Given the description of an element on the screen output the (x, y) to click on. 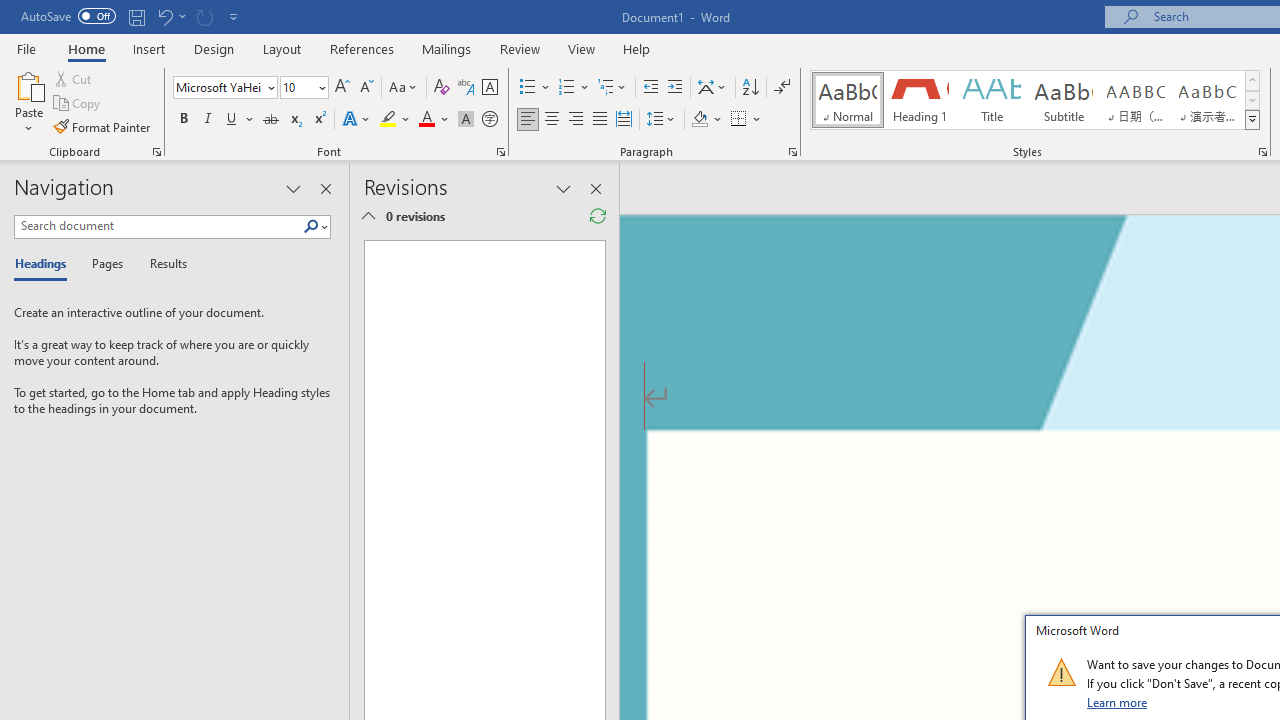
Font (218, 87)
Row Down (1252, 100)
Help (637, 48)
Styles... (1262, 151)
Customize Quick Access Toolbar (234, 15)
Shading (706, 119)
System (10, 11)
Review (520, 48)
References (362, 48)
Line and Paragraph Spacing (661, 119)
Subscript (294, 119)
Strikethrough (270, 119)
Close pane (325, 188)
Font Size (297, 87)
Learn more (1118, 702)
